Given the description of an element on the screen output the (x, y) to click on. 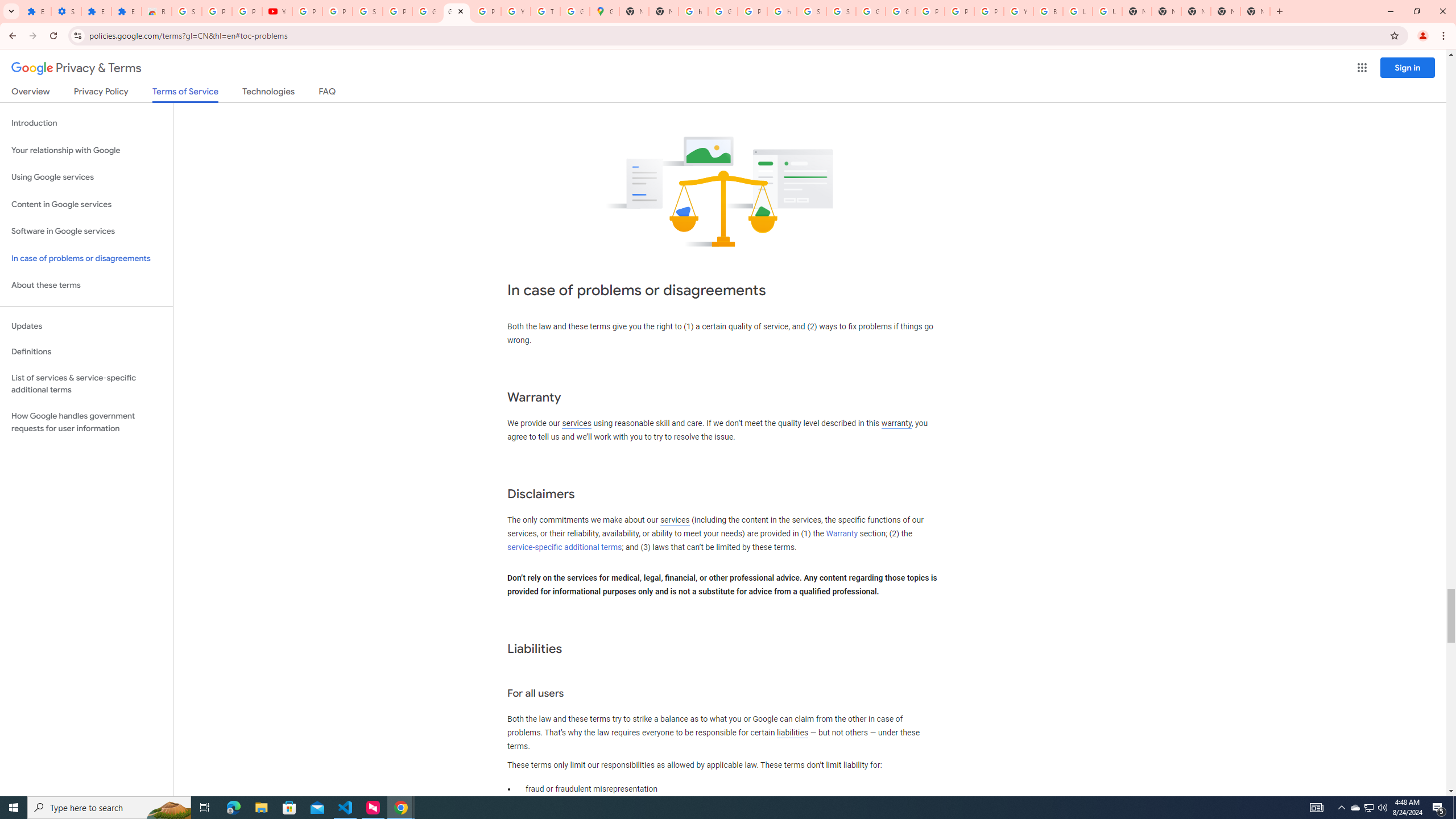
About these terms (86, 284)
Privacy Policy (100, 93)
How Google handles government requests for user information (86, 422)
Settings (65, 11)
service-specific additional terms (563, 547)
Software in Google services (86, 230)
YouTube (515, 11)
Extensions (36, 11)
